Given the description of an element on the screen output the (x, y) to click on. 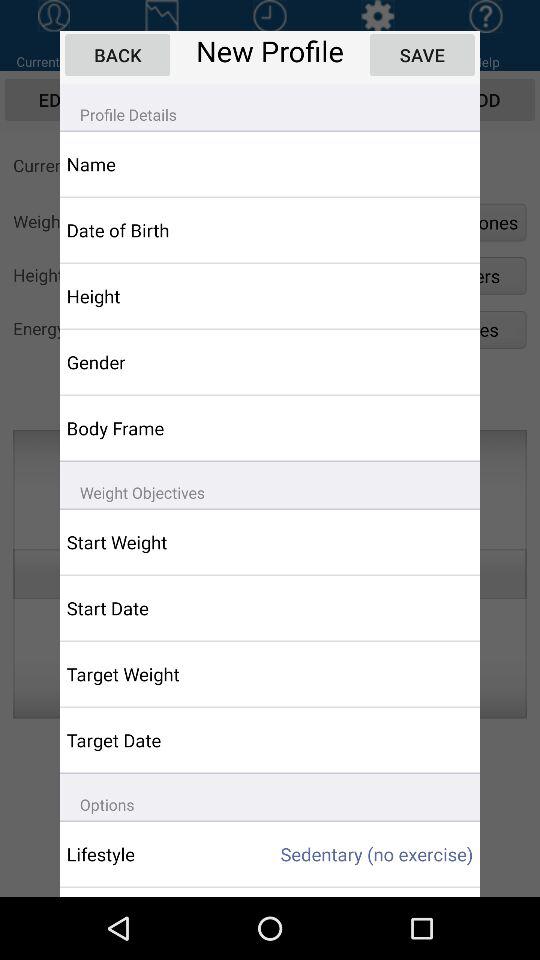
turn off weight objectives item (270, 484)
